Given the description of an element on the screen output the (x, y) to click on. 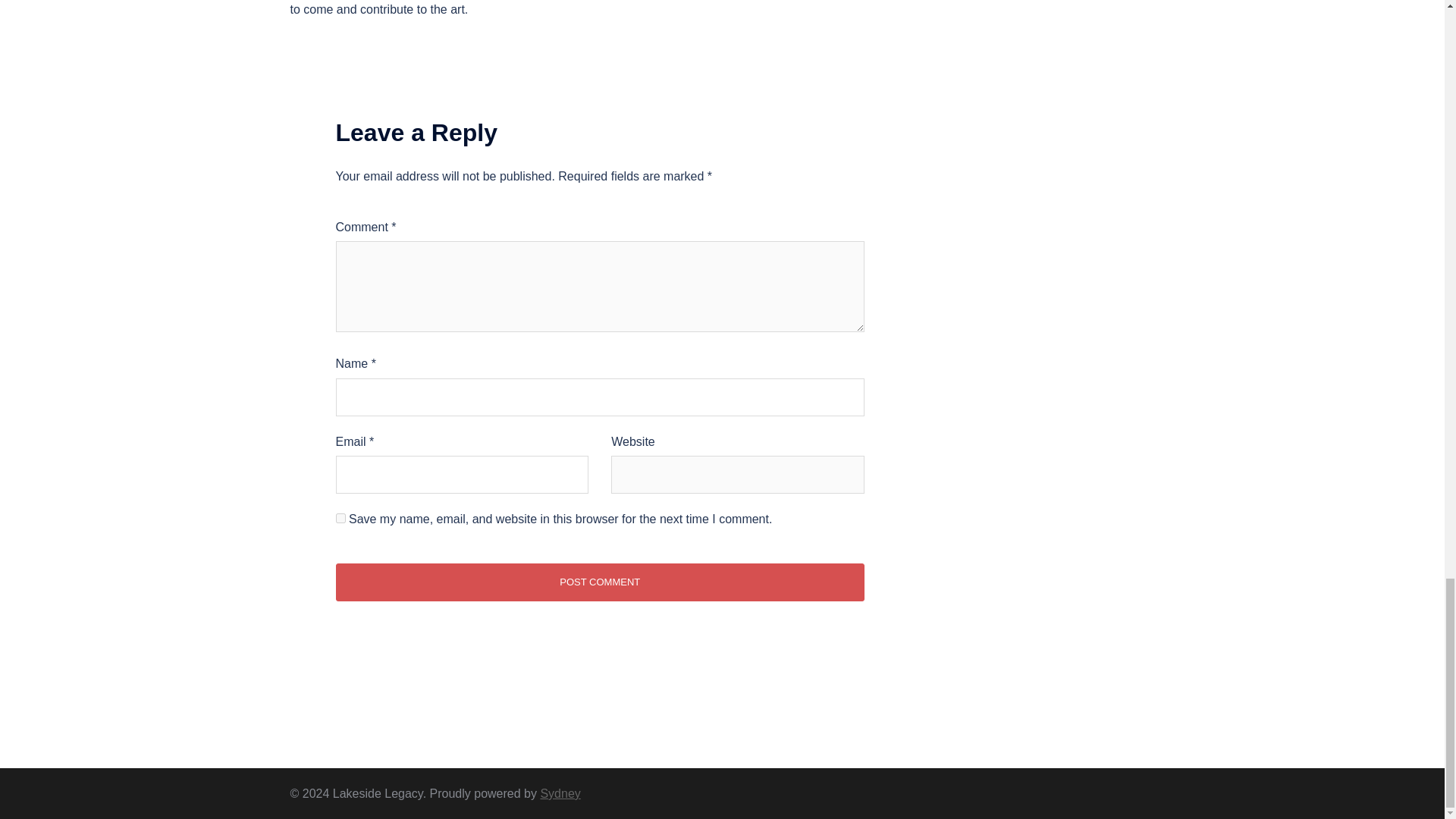
yes (339, 518)
Sydney (559, 793)
Post Comment (599, 582)
Post Comment (599, 582)
